Given the description of an element on the screen output the (x, y) to click on. 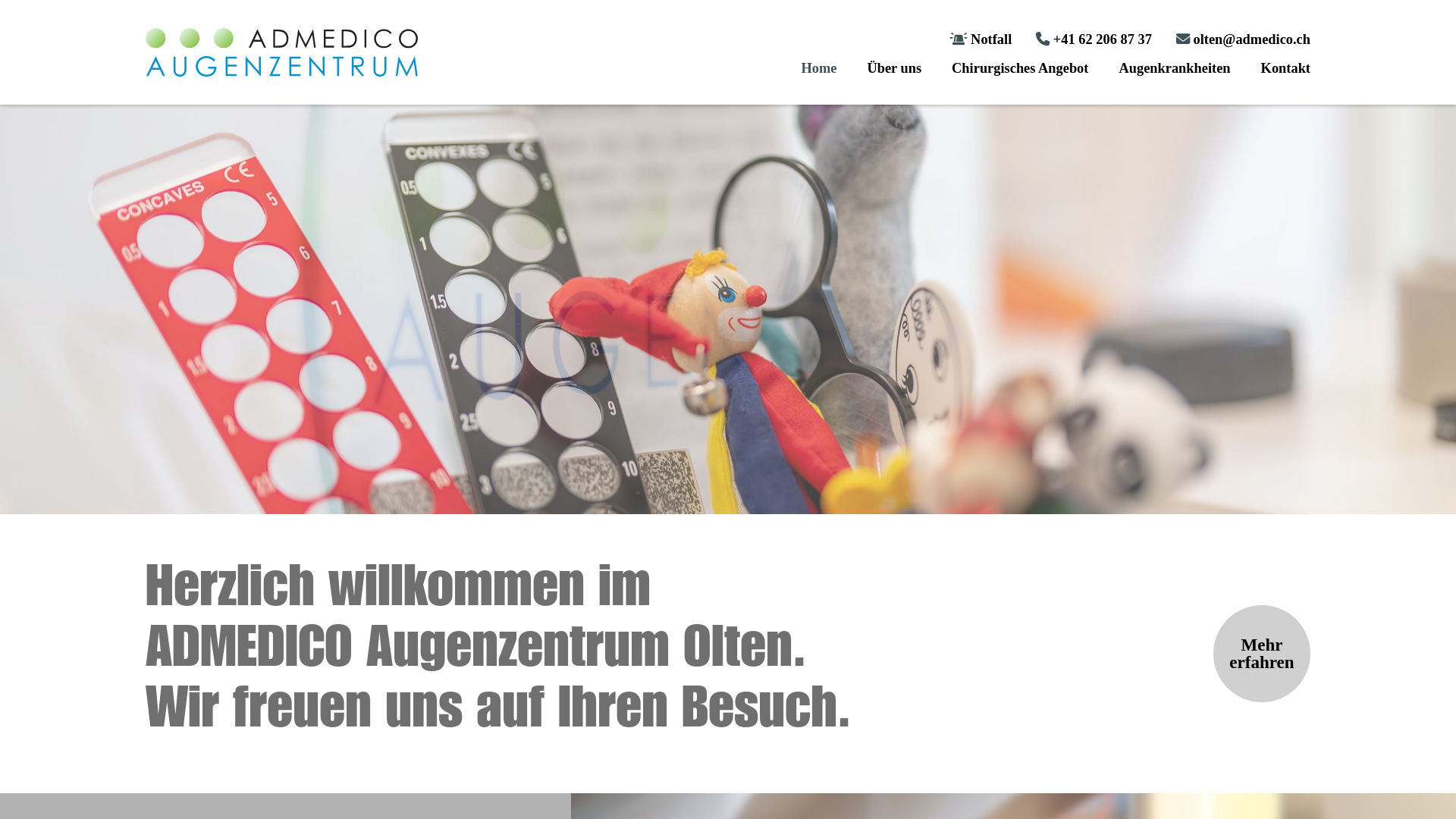
Kontakt Element type: text (1285, 67)
olten@admedico.ch Element type: text (1243, 39)
Mehr erfahren Element type: text (1261, 653)
Notfall Element type: text (980, 39)
+41 62 206 87 37 Element type: text (1093, 39)
Chirurgisches Angebot Element type: text (1019, 67)
Home Element type: text (818, 67)
Augenkrankheiten Element type: text (1174, 67)
